Given the description of an element on the screen output the (x, y) to click on. 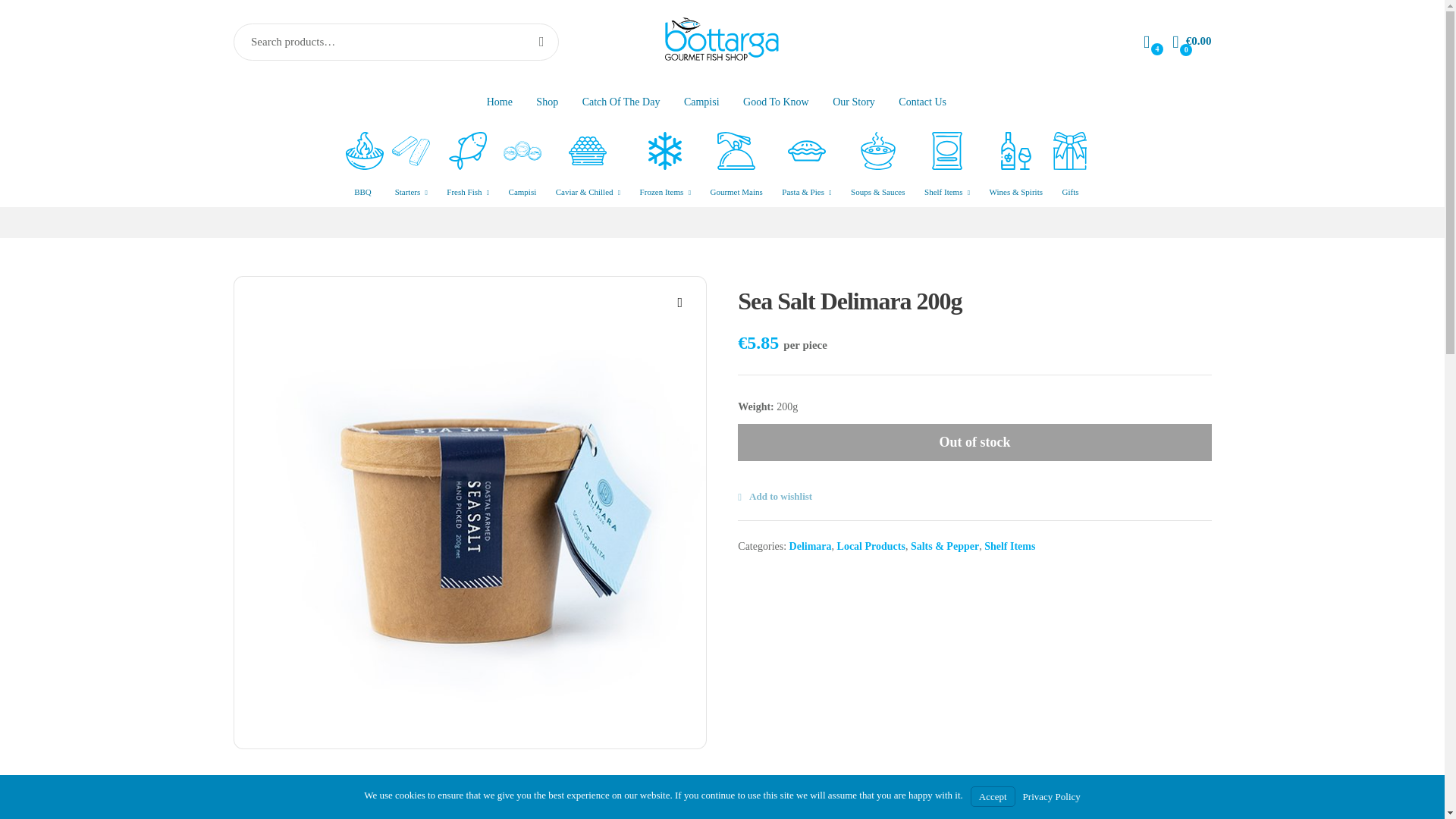
Frozen Items (664, 169)
Home (499, 101)
Contact Us (922, 101)
Gourmet Mains (735, 169)
Shop (547, 101)
Fresh Fish (467, 169)
Campisi (701, 101)
4 (1146, 41)
Our Story (853, 101)
Campisi (522, 169)
View your shopping cart (1191, 41)
Search (536, 40)
BBQ (365, 169)
Starters (411, 169)
Catch Of The Day (621, 101)
